Given the description of an element on the screen output the (x, y) to click on. 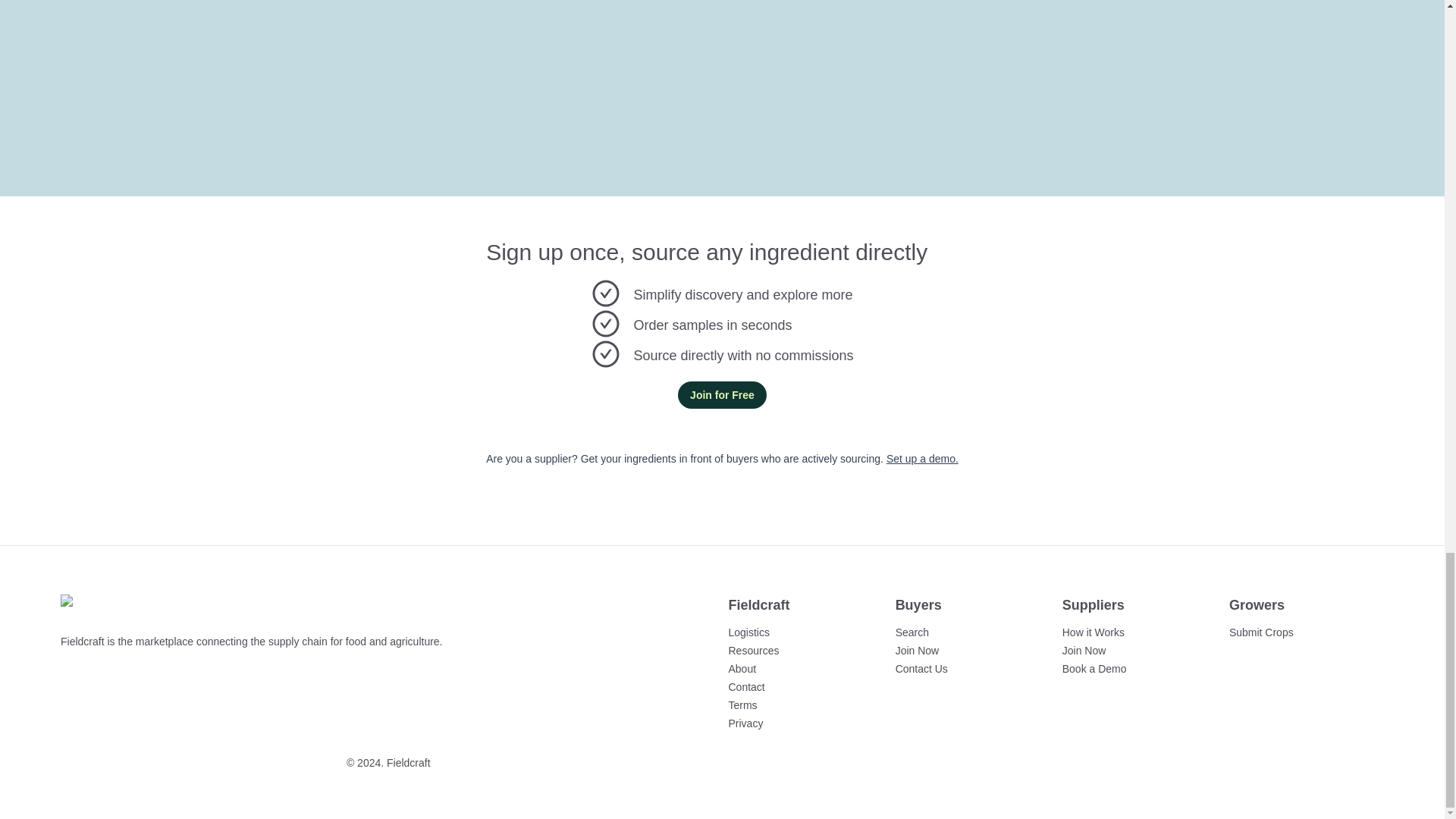
Submit Crops (1261, 632)
Set up a demo. (922, 458)
How it Works (1093, 632)
Contact Us (921, 668)
Join Now (1084, 650)
Privacy (745, 723)
Join for Free (722, 394)
Logistics (748, 632)
Book a Demo (1094, 668)
Contact (746, 686)
Resources (753, 650)
Terms (742, 705)
Search (911, 632)
Join Now (917, 650)
About (741, 668)
